Given the description of an element on the screen output the (x, y) to click on. 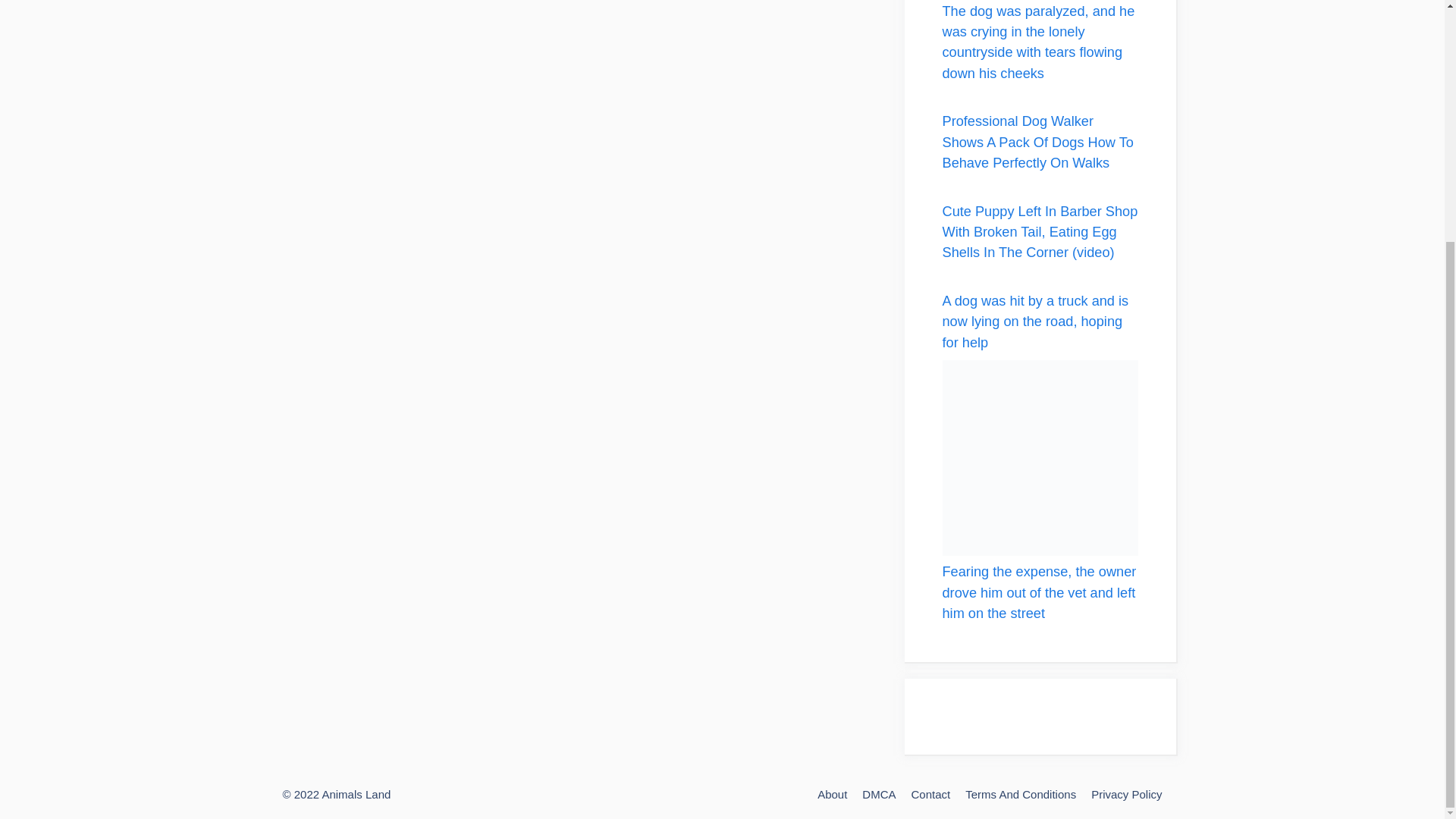
About (831, 793)
Contact (930, 793)
DMCA (878, 793)
Privacy Policy (1125, 793)
Terms And Conditions (1020, 793)
